Given the description of an element on the screen output the (x, y) to click on. 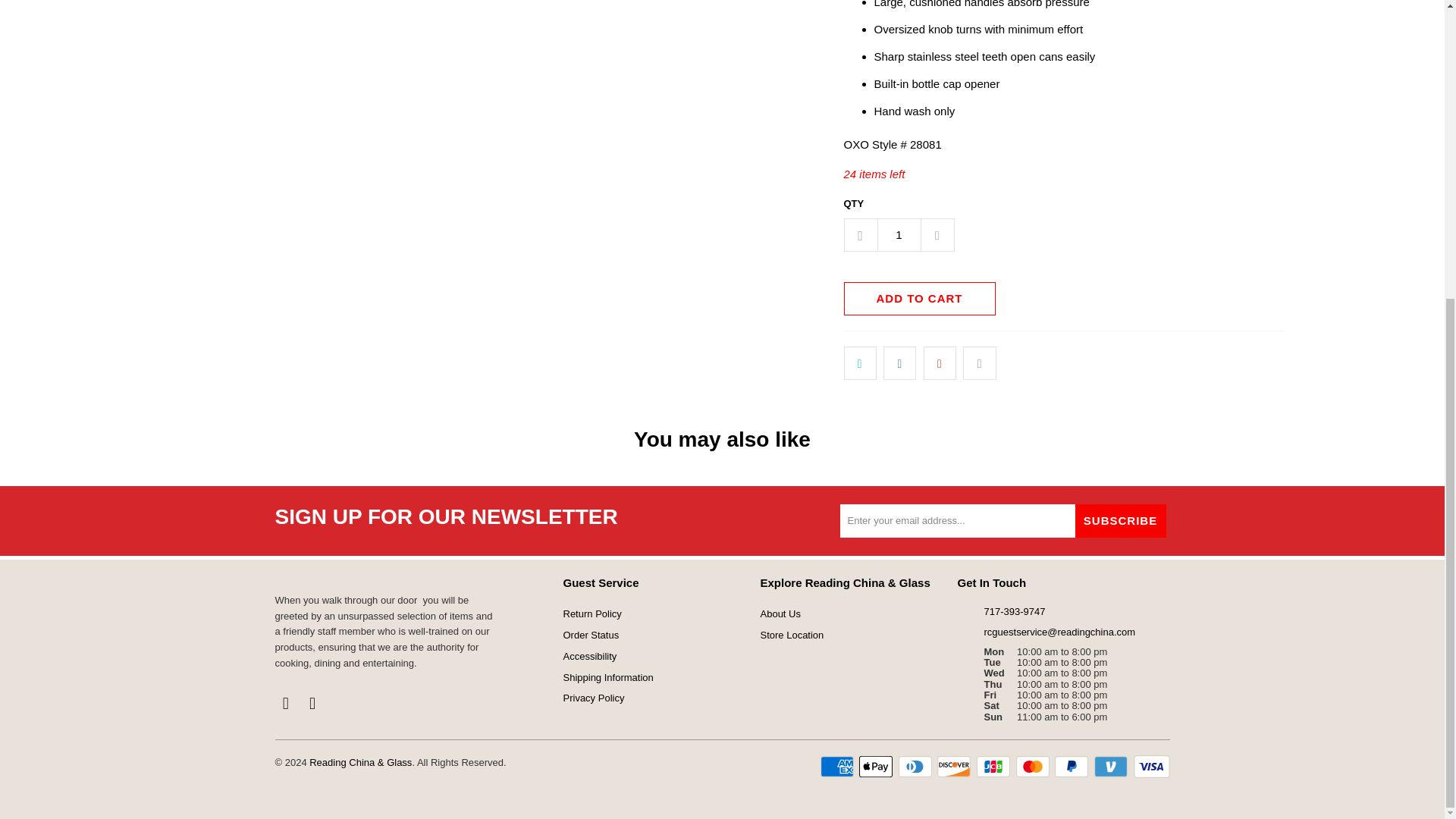
Email this to a friend (978, 362)
PayPal (1072, 766)
Diners Club (916, 766)
Discover (955, 766)
Apple Pay (877, 766)
American Express (839, 766)
JCB (994, 766)
Mastercard (1034, 766)
1 (898, 234)
Share this on Facebook (899, 362)
Venmo (1112, 766)
Visa (1150, 766)
Share this on Pinterest (939, 362)
Share this on Twitter (859, 362)
Subscribe (1120, 520)
